Given the description of an element on the screen output the (x, y) to click on. 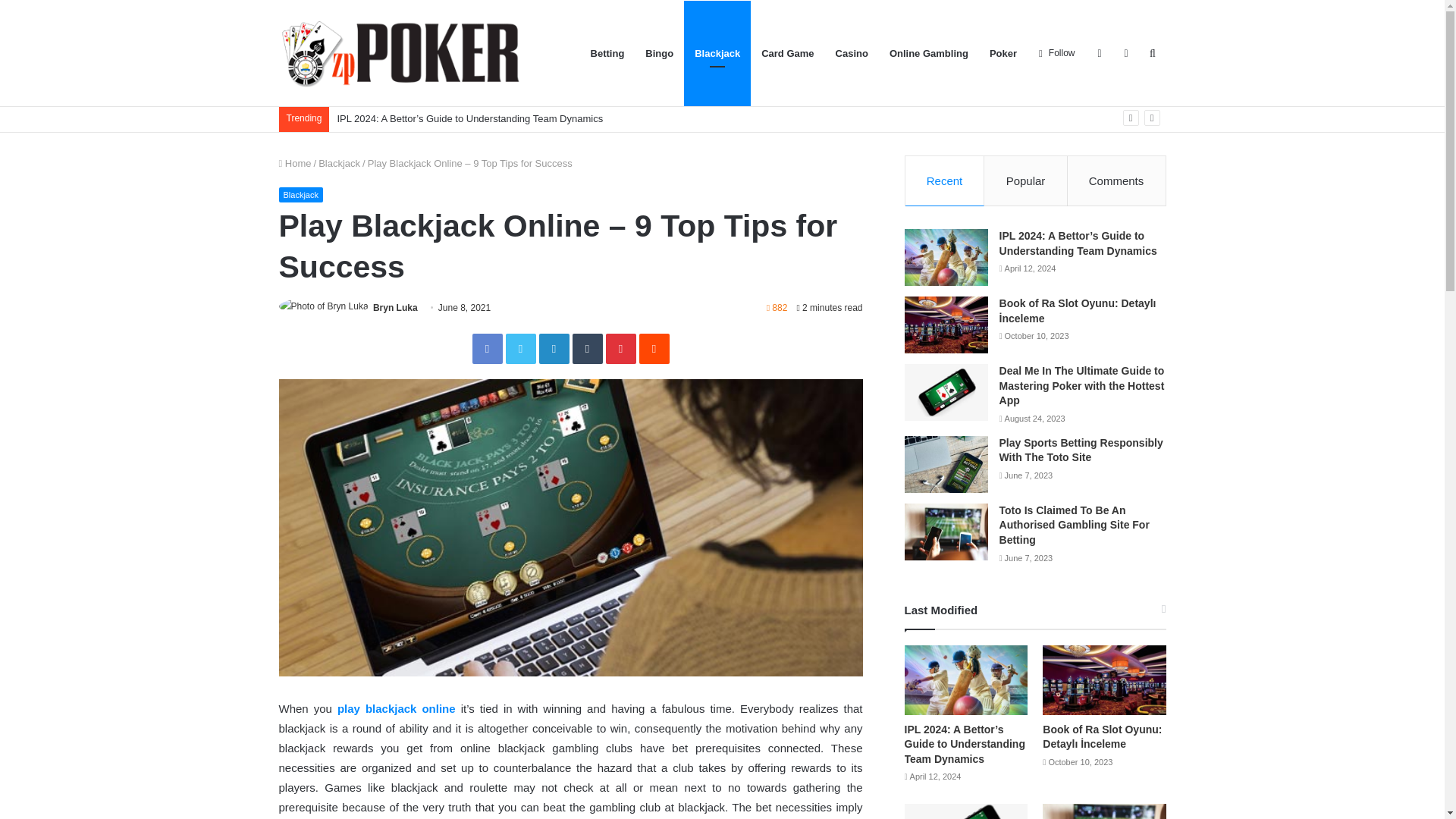
Tumblr (587, 348)
Bryn Luka (394, 307)
Online Gambling (928, 53)
Twitter (520, 348)
Pinterest (619, 348)
play blackjack online (399, 707)
Reddit (653, 348)
Facebook (486, 348)
ZP Poker - Get the inside-scoop on playing casino games (400, 52)
Blackjack (301, 194)
